Given the description of an element on the screen output the (x, y) to click on. 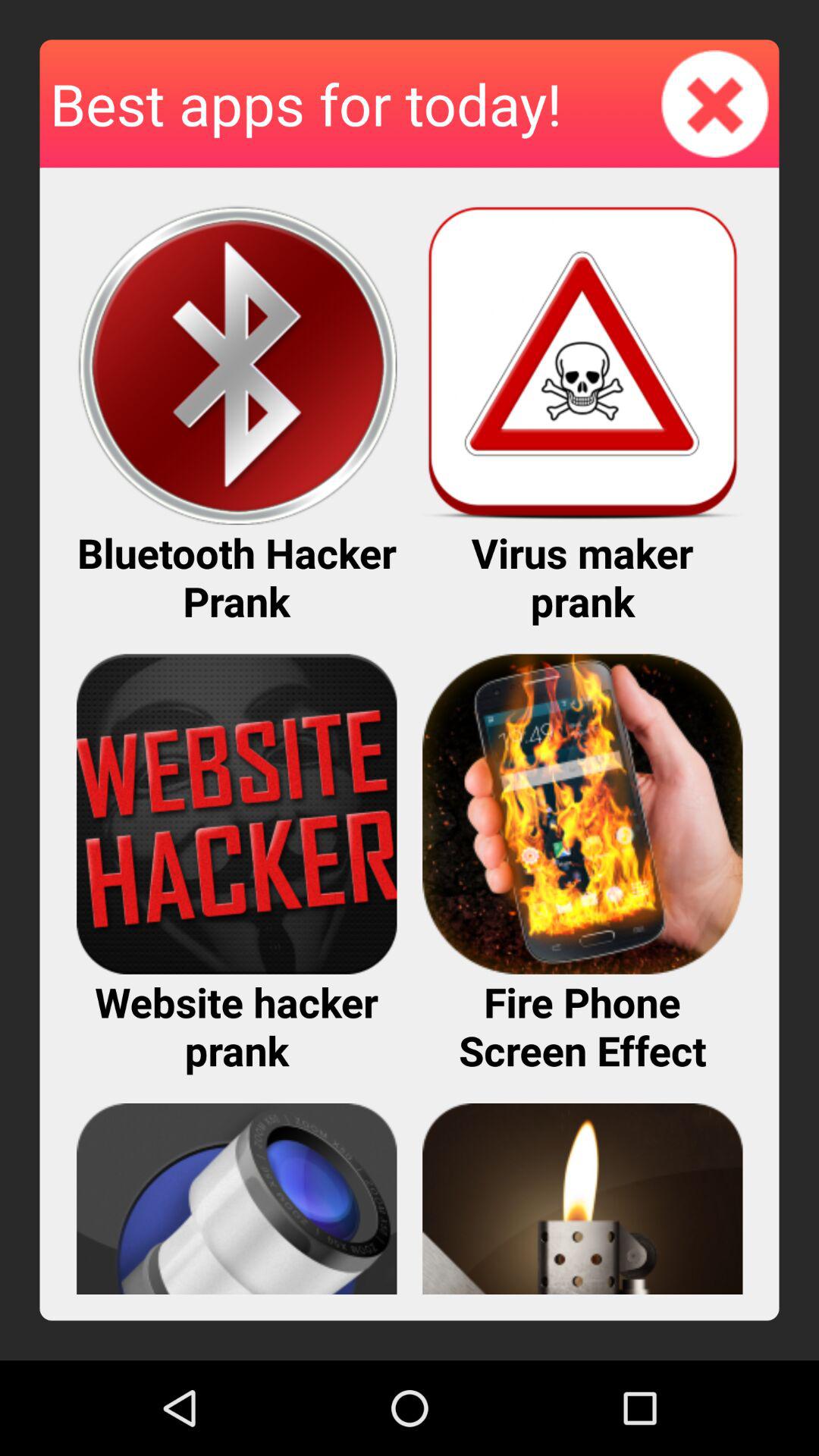
tap item to the right of best apps for icon (714, 103)
